Given the description of an element on the screen output the (x, y) to click on. 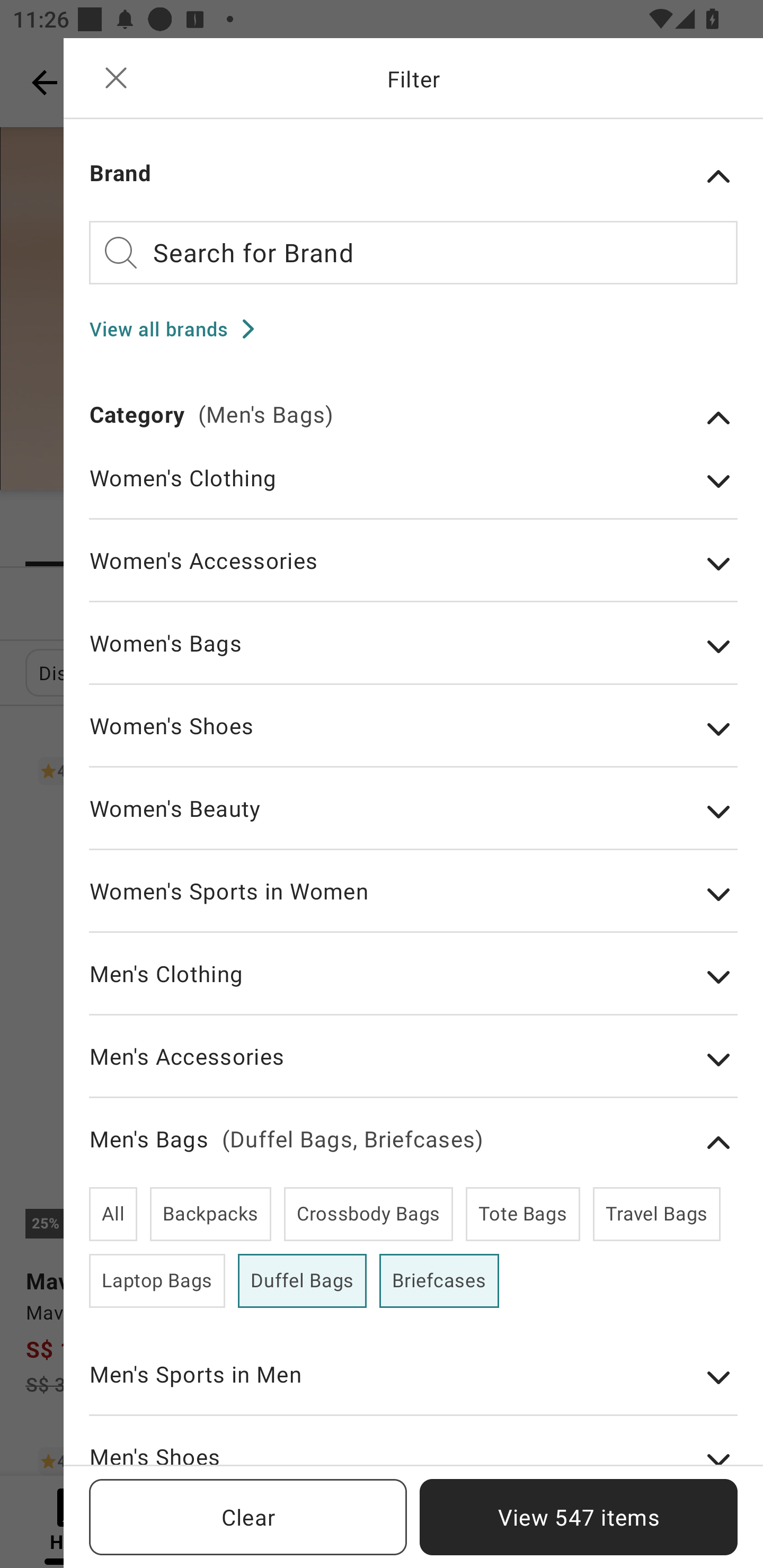
Brand (413, 176)
Search for Brand (413, 252)
View all brands (177, 328)
Category (Men's Bags) (413, 417)
Women's Clothing (413, 490)
Women's Accessories (413, 573)
Women's Bags (413, 656)
Women's Shoes (413, 739)
Women's Beauty (413, 821)
Women's Sports in Women (413, 903)
Men's Clothing (413, 987)
Men's Accessories (413, 1069)
Men's Bags (Duffel Bags, Briefcases) (413, 1142)
All (113, 1213)
Backpacks (210, 1213)
Crossbody Bags (368, 1213)
Tote Bags (522, 1213)
Travel Bags (656, 1213)
Laptop Bags (157, 1280)
Duffel Bags (302, 1280)
Briefcases (439, 1280)
Men's Sports in Men (413, 1387)
Men's Shoes (413, 1452)
Clear (247, 1516)
View 547 items (578, 1516)
